Given the description of an element on the screen output the (x, y) to click on. 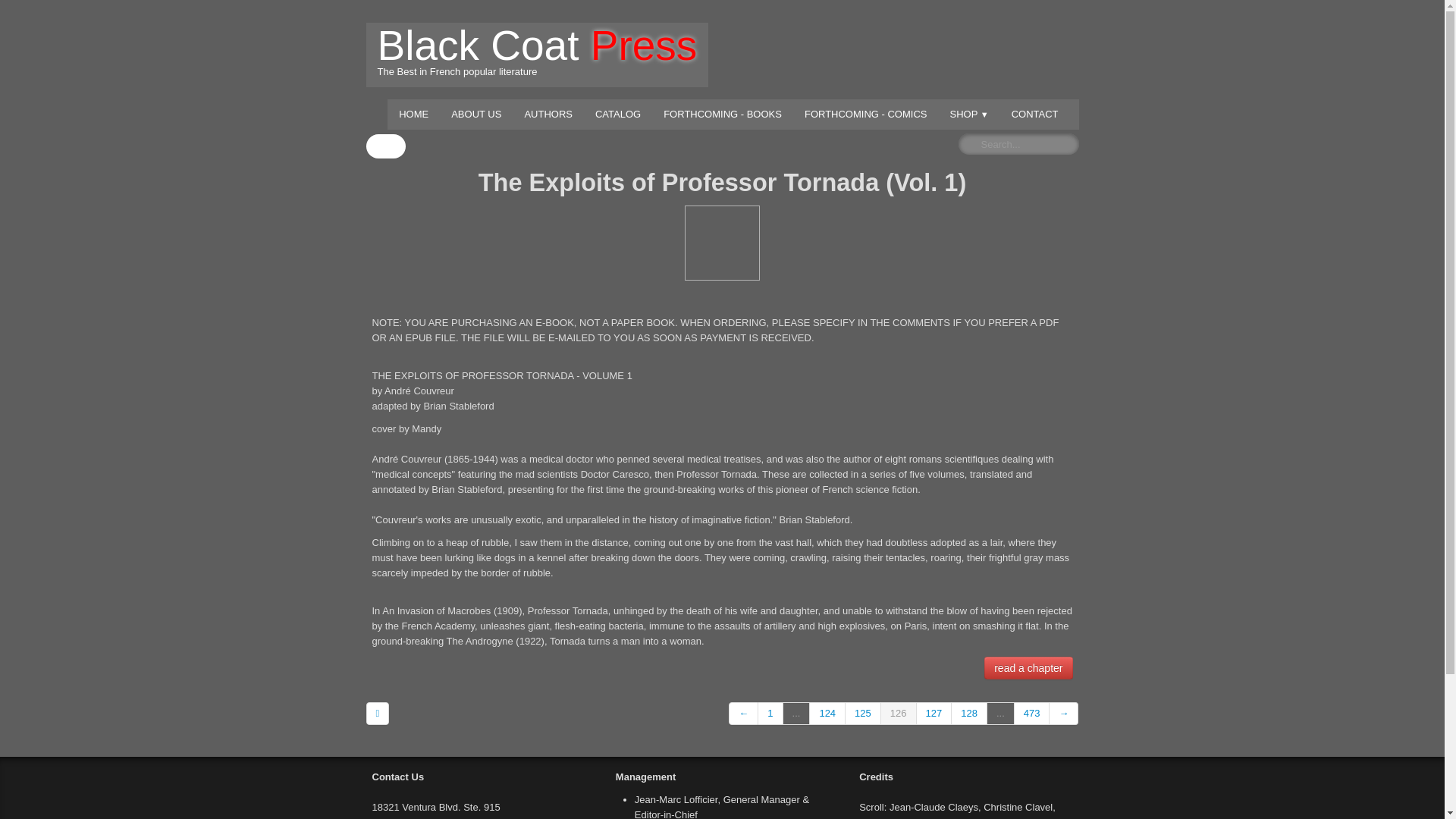
473 (1031, 712)
ABOUT US (475, 114)
CATALOG (617, 114)
CONTACT (536, 54)
... (1035, 114)
Cart (1000, 712)
127 (384, 146)
128 (934, 712)
126 (969, 712)
